Given the description of an element on the screen output the (x, y) to click on. 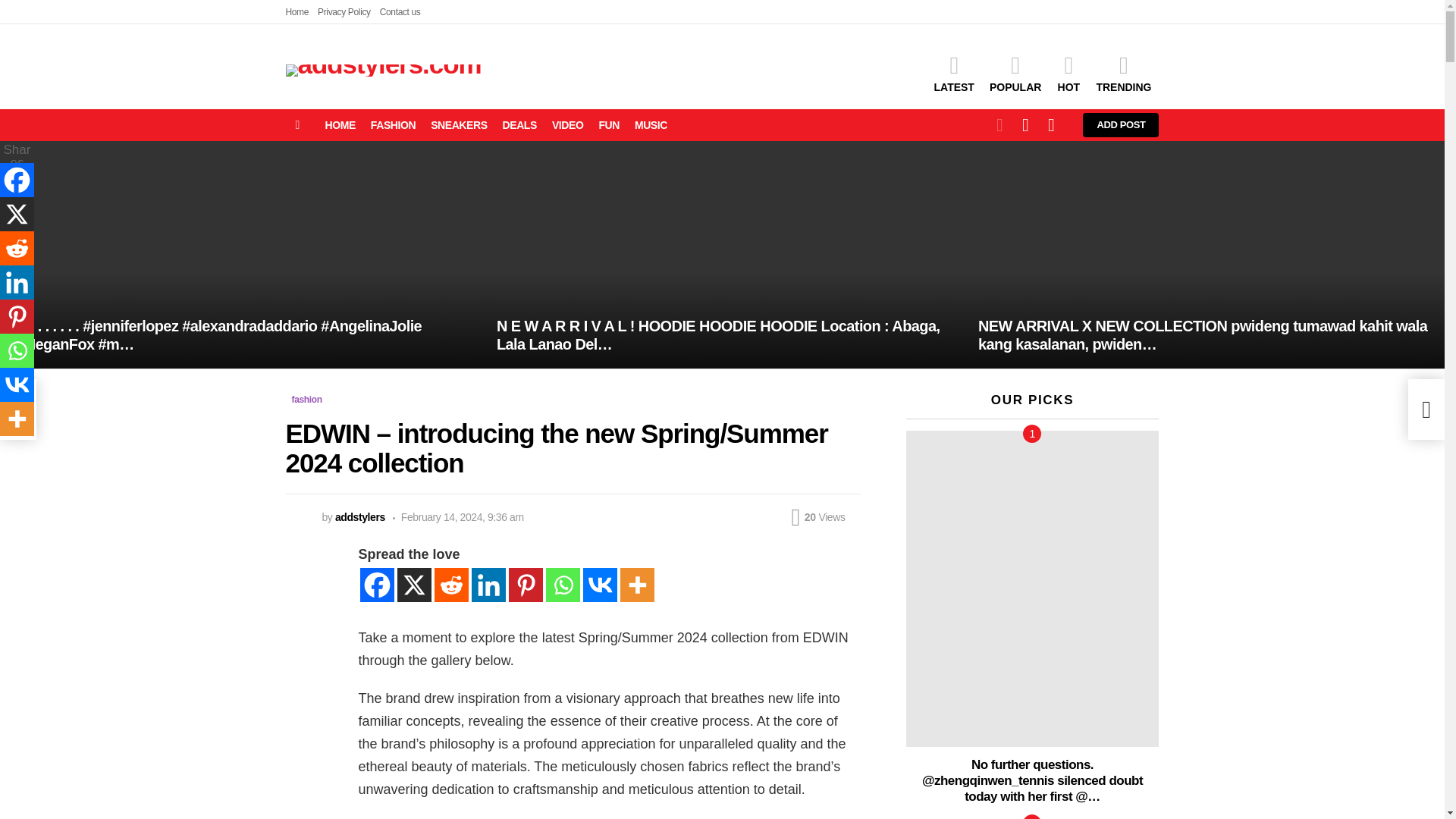
X (413, 584)
MUSIC (651, 124)
Home (296, 12)
SWITCH SKIN (999, 124)
LATEST (953, 73)
Posts by addstylers (359, 517)
Linkedin (488, 584)
Pinterest (524, 584)
Privacy Policy (344, 12)
SNEAKERS (459, 124)
TRENDING (1122, 73)
Contact us (400, 12)
LOGIN (1050, 124)
FUN (609, 124)
FASHION (392, 124)
